Given the description of an element on the screen output the (x, y) to click on. 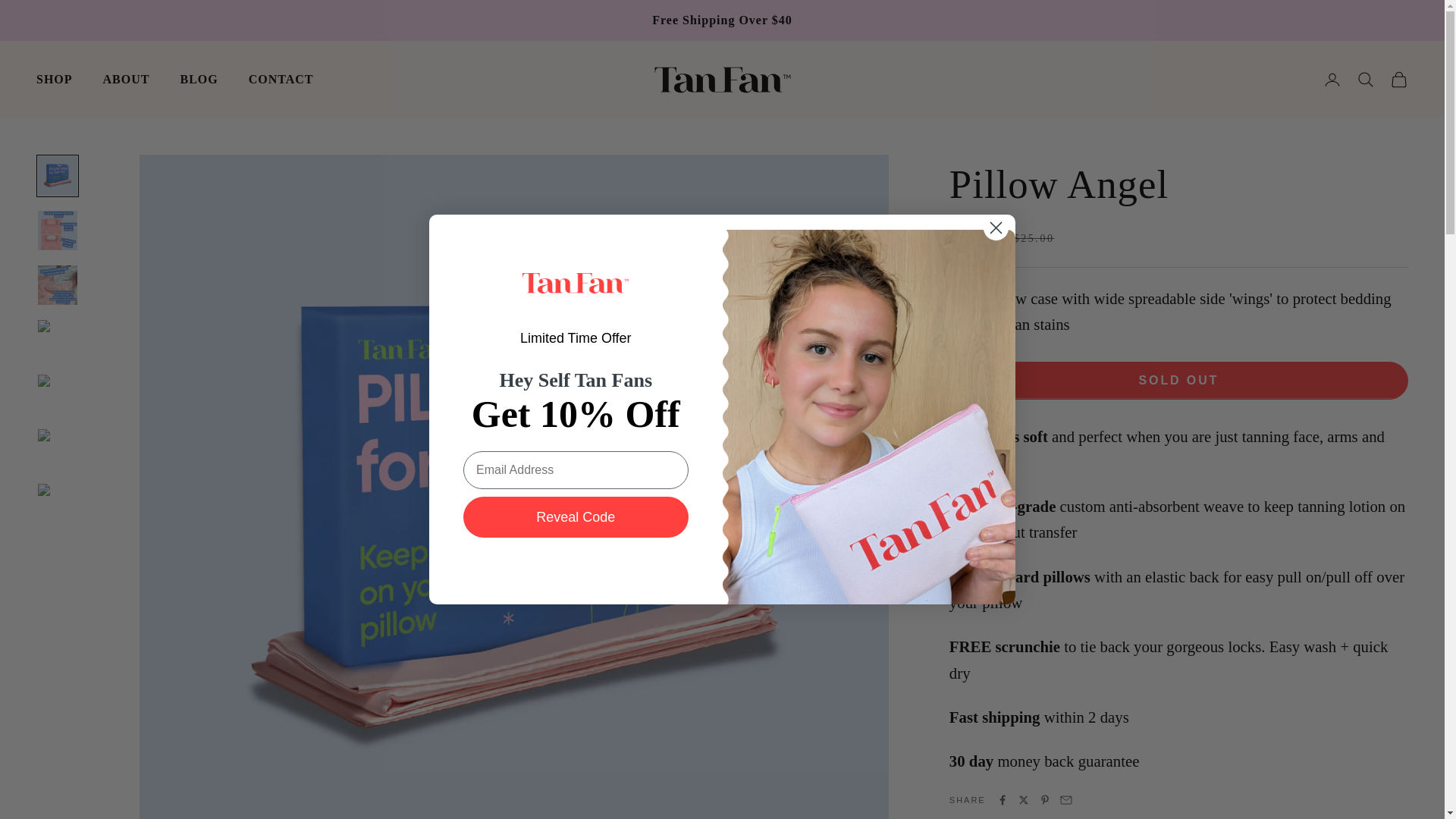
ABOUT (126, 78)
CONTACT (281, 78)
Open Account Page (1331, 79)
SOLD OUT (1178, 379)
BLOG (197, 78)
Tan Fan Co (722, 80)
Open Search (1365, 79)
Open Cart (1398, 79)
